Given the description of an element on the screen output the (x, y) to click on. 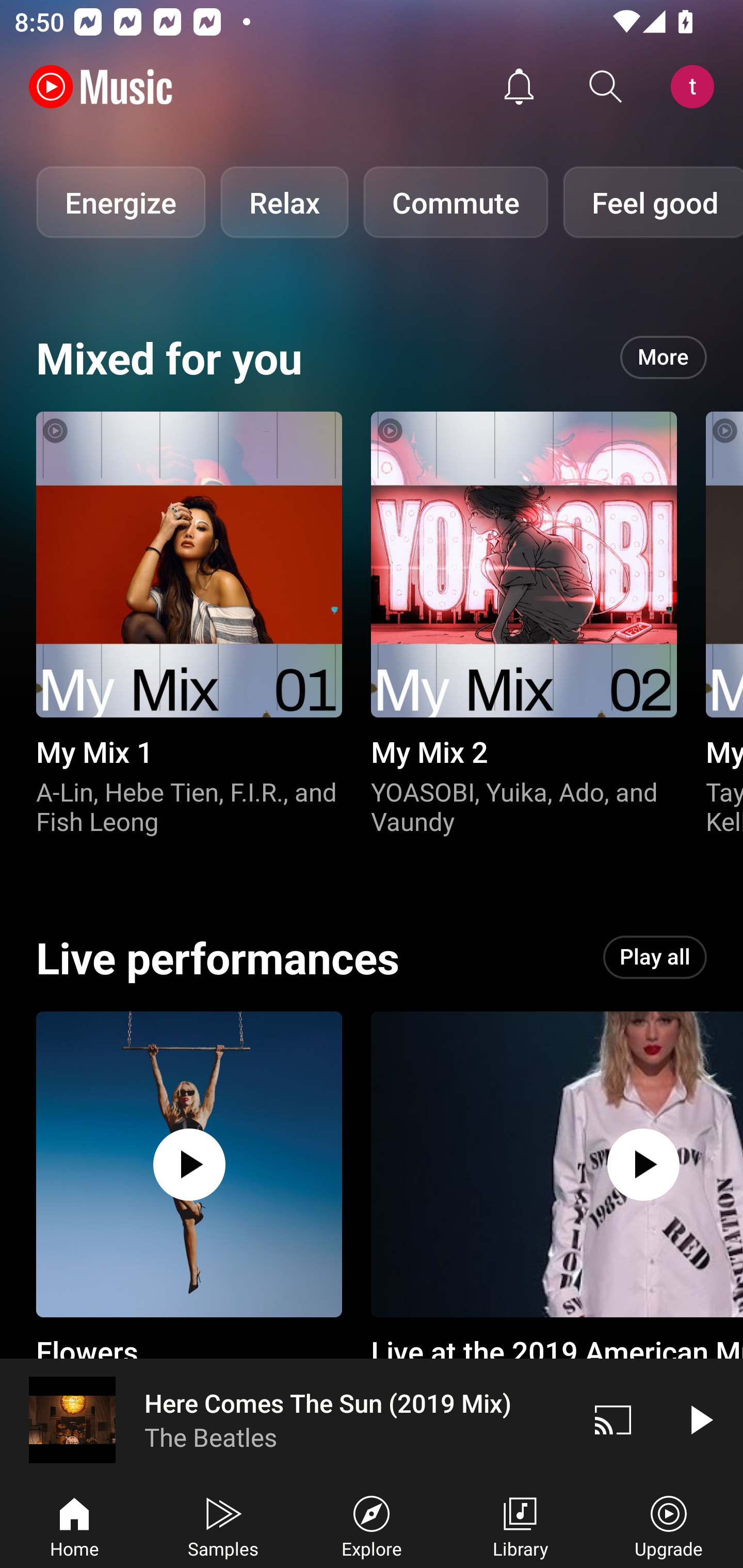
Activity feed (518, 86)
Search (605, 86)
Account (696, 86)
Here Comes The Sun (2019 Mix) The Beatles (284, 1419)
Cast. Disconnected (612, 1419)
Play video (699, 1419)
Home (74, 1524)
Samples (222, 1524)
Explore (371, 1524)
Library (519, 1524)
Upgrade (668, 1524)
